Given the description of an element on the screen output the (x, y) to click on. 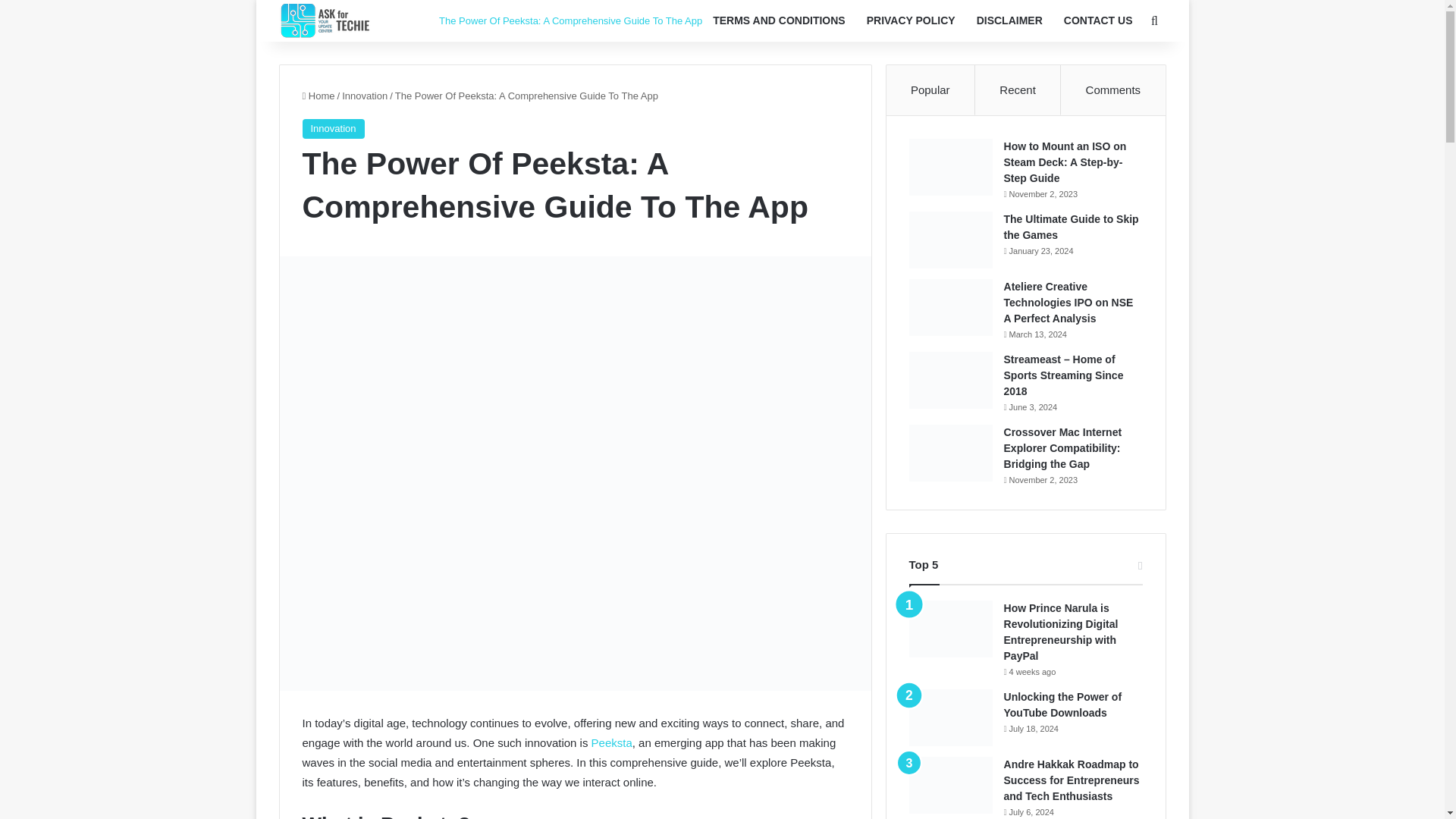
Ask For Techie (328, 20)
PRIVACY POLICY (911, 20)
CONTACT US (1097, 20)
TERMS AND CONDITIONS (778, 20)
Peeksta (611, 742)
Recent (1018, 90)
Comments (1112, 90)
How to Mount an ISO on Steam Deck: A Step-by-Step Guide (1065, 162)
Innovation (332, 128)
